Given the description of an element on the screen output the (x, y) to click on. 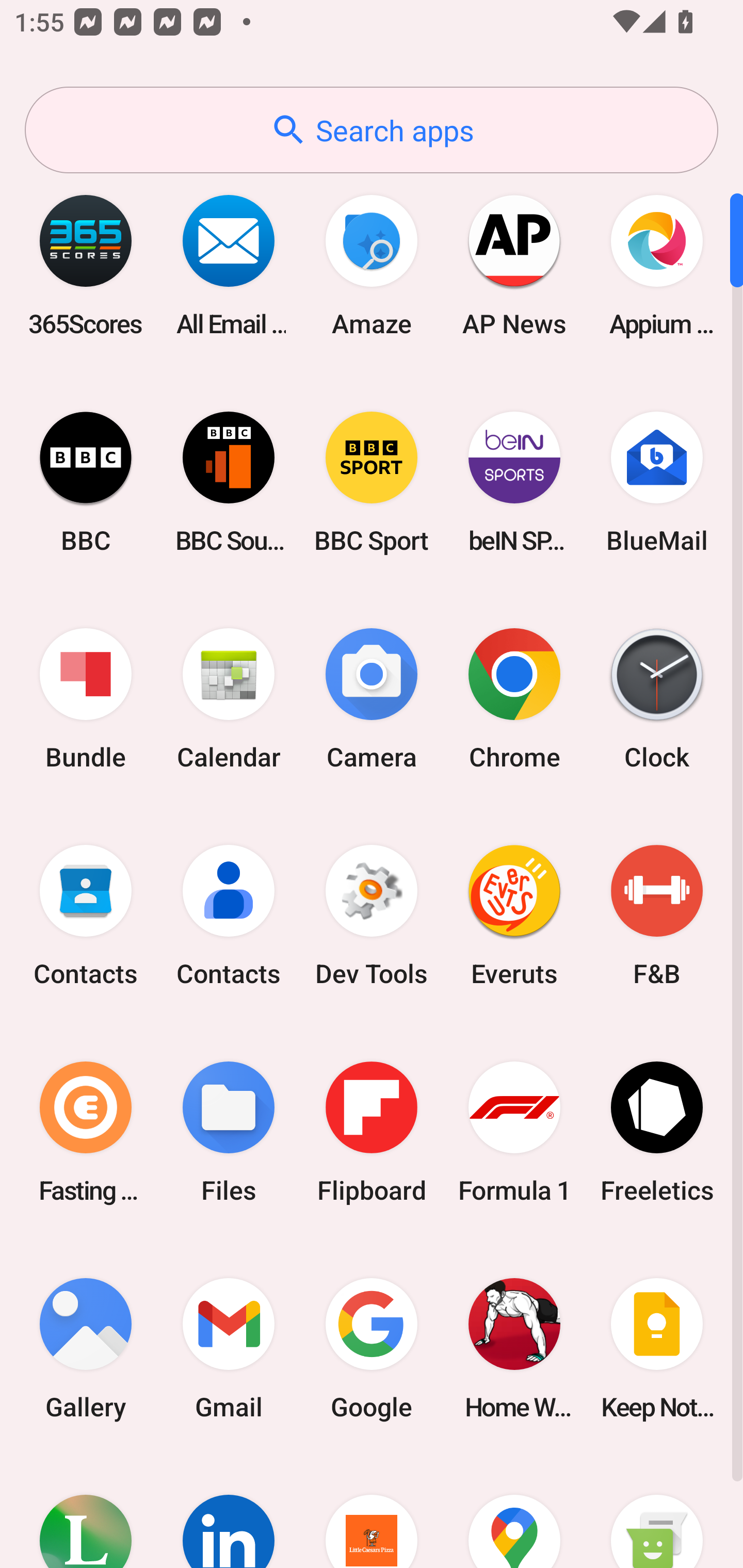
  Search apps (371, 130)
365Scores (85, 264)
All Email Connect (228, 264)
Amaze (371, 264)
AP News (514, 264)
Appium Settings (656, 264)
BBC (85, 482)
BBC Sounds (228, 482)
BBC Sport (371, 482)
beIN SPORTS (514, 482)
BlueMail (656, 482)
Bundle (85, 699)
Calendar (228, 699)
Camera (371, 699)
Chrome (514, 699)
Clock (656, 699)
Contacts (85, 915)
Contacts (228, 915)
Dev Tools (371, 915)
Everuts (514, 915)
F&B (656, 915)
Fasting Coach (85, 1131)
Files (228, 1131)
Flipboard (371, 1131)
Formula 1 (514, 1131)
Freeletics (656, 1131)
Gallery (85, 1348)
Gmail (228, 1348)
Google (371, 1348)
Home Workout (514, 1348)
Keep Notes (656, 1348)
Lifesum (85, 1512)
LinkedIn (228, 1512)
Little Caesars Pizza (371, 1512)
Maps (514, 1512)
Messaging (656, 1512)
